Given the description of an element on the screen output the (x, y) to click on. 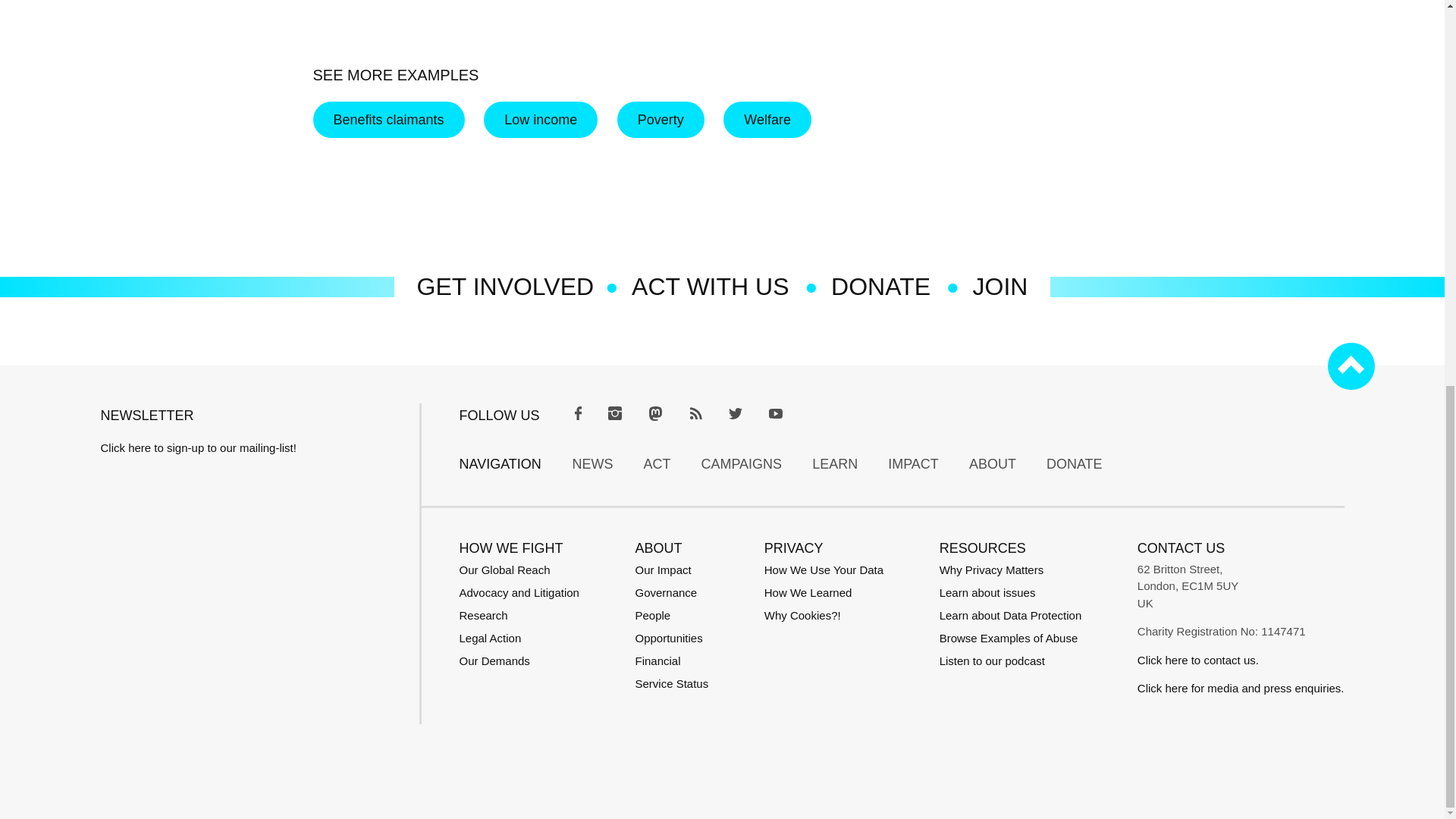
CAMPAIGNS (740, 463)
Low income (539, 119)
NEWS (592, 463)
Our Global Reach (505, 569)
The Technology Pill podcast (992, 660)
ACT WITH US (710, 286)
ABOUT (992, 463)
IMPACT (913, 463)
DONATE (880, 286)
DONATE (1074, 463)
JOIN (999, 286)
We need your support, donate now (880, 286)
Index of media stories and reports about exploitation (1008, 637)
Back to top (1350, 366)
LEARN (834, 463)
